Given the description of an element on the screen output the (x, y) to click on. 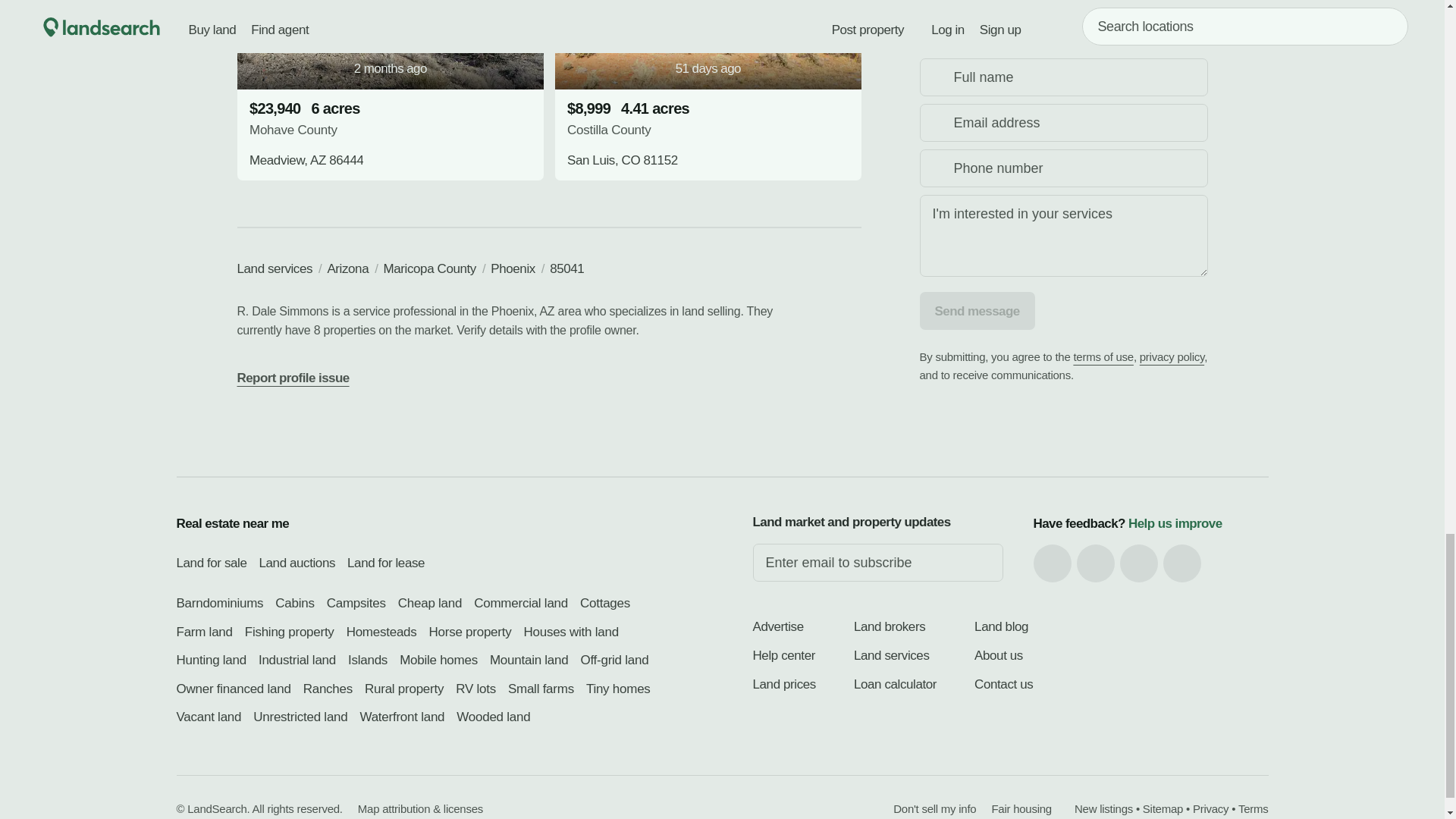
Phoenix (512, 268)
Arizona (347, 268)
Barndominiums (219, 602)
Land auctions (297, 562)
85041 (566, 268)
Land services (274, 268)
Maricopa County (430, 268)
Land for lease (385, 562)
Land for sale (210, 562)
